Given the description of an element on the screen output the (x, y) to click on. 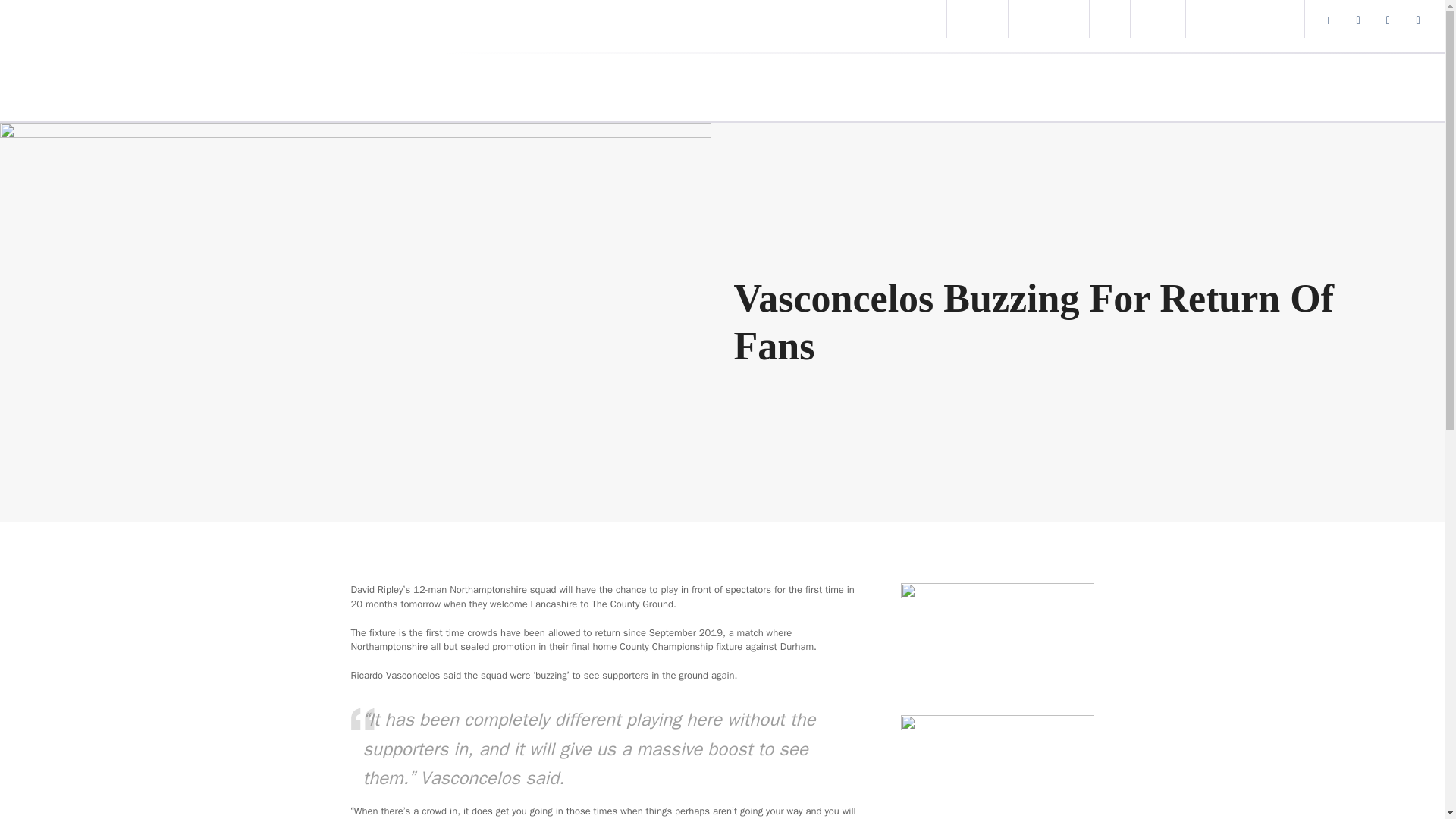
TEAM (941, 77)
SAFEGUARDING (1048, 18)
LIVE MATCH CENTRE (896, 18)
CRICKET (649, 77)
SHOP (1109, 18)
AWARDS DINNER (518, 77)
SECOND XI (978, 18)
TICKETS (764, 77)
NEWS (863, 77)
CONTACT (1158, 18)
